Given the description of an element on the screen output the (x, y) to click on. 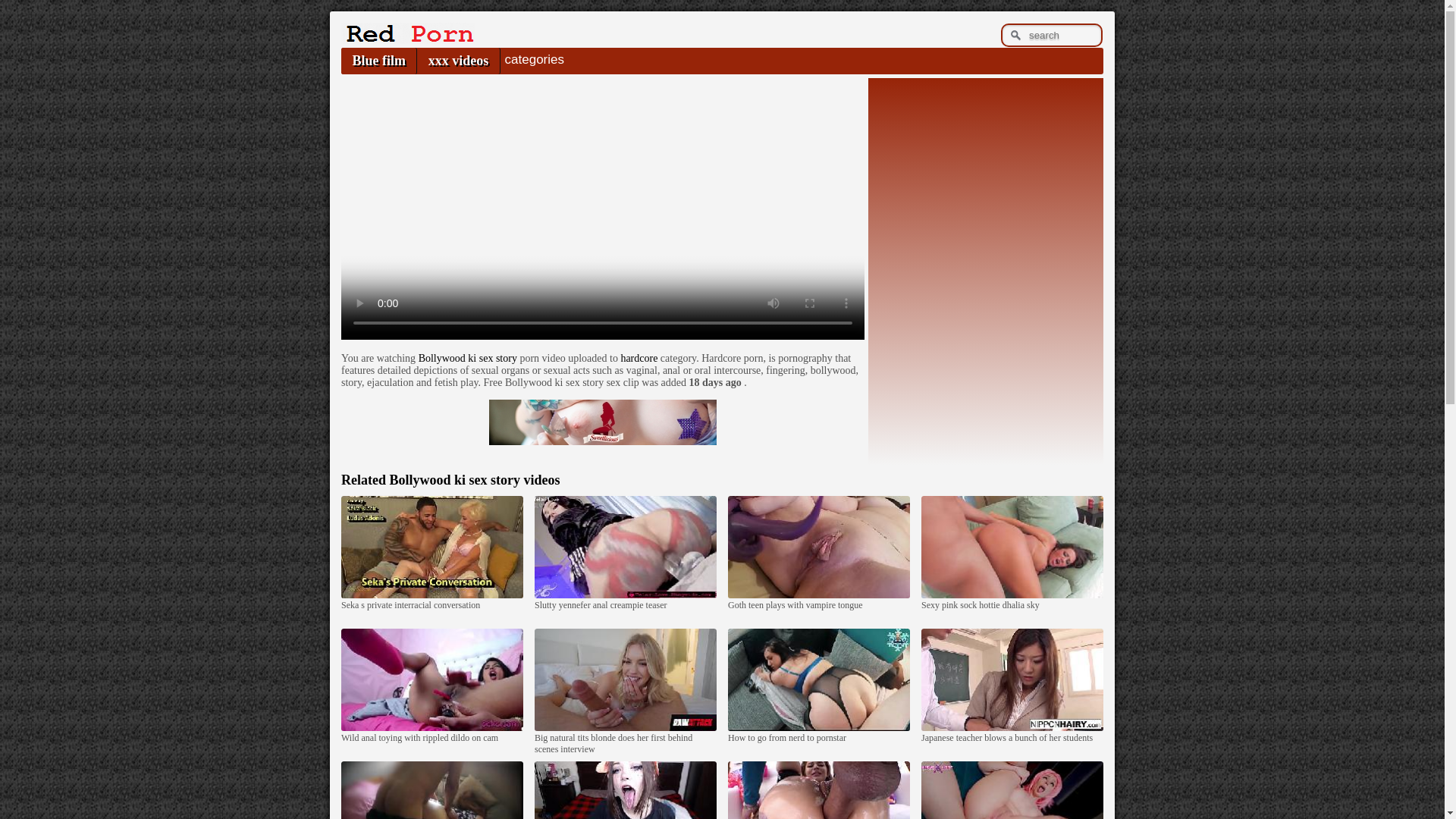
Bollywood ki sex story (467, 357)
hardcore (639, 357)
xxx videos (457, 60)
categories (533, 59)
Blue film (378, 60)
xxx videos (457, 60)
Blue film (378, 60)
Bollywood ki sex story videos (473, 479)
Indian Porn (407, 39)
